Given the description of an element on the screen output the (x, y) to click on. 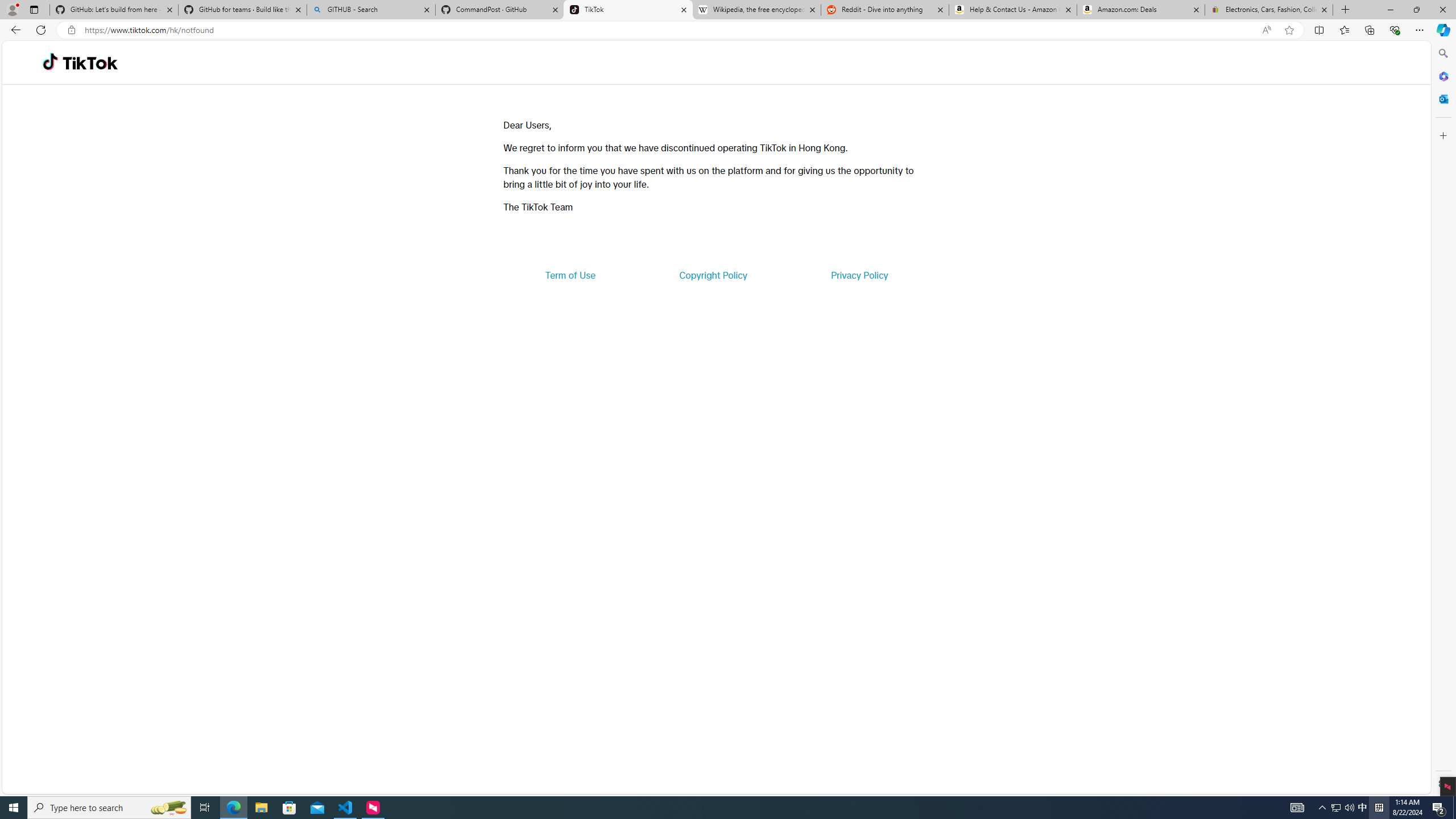
Amazon.com: Deals (1140, 9)
Copyright Policy (712, 274)
Wikipedia, the free encyclopedia (756, 9)
